Given the description of an element on the screen output the (x, y) to click on. 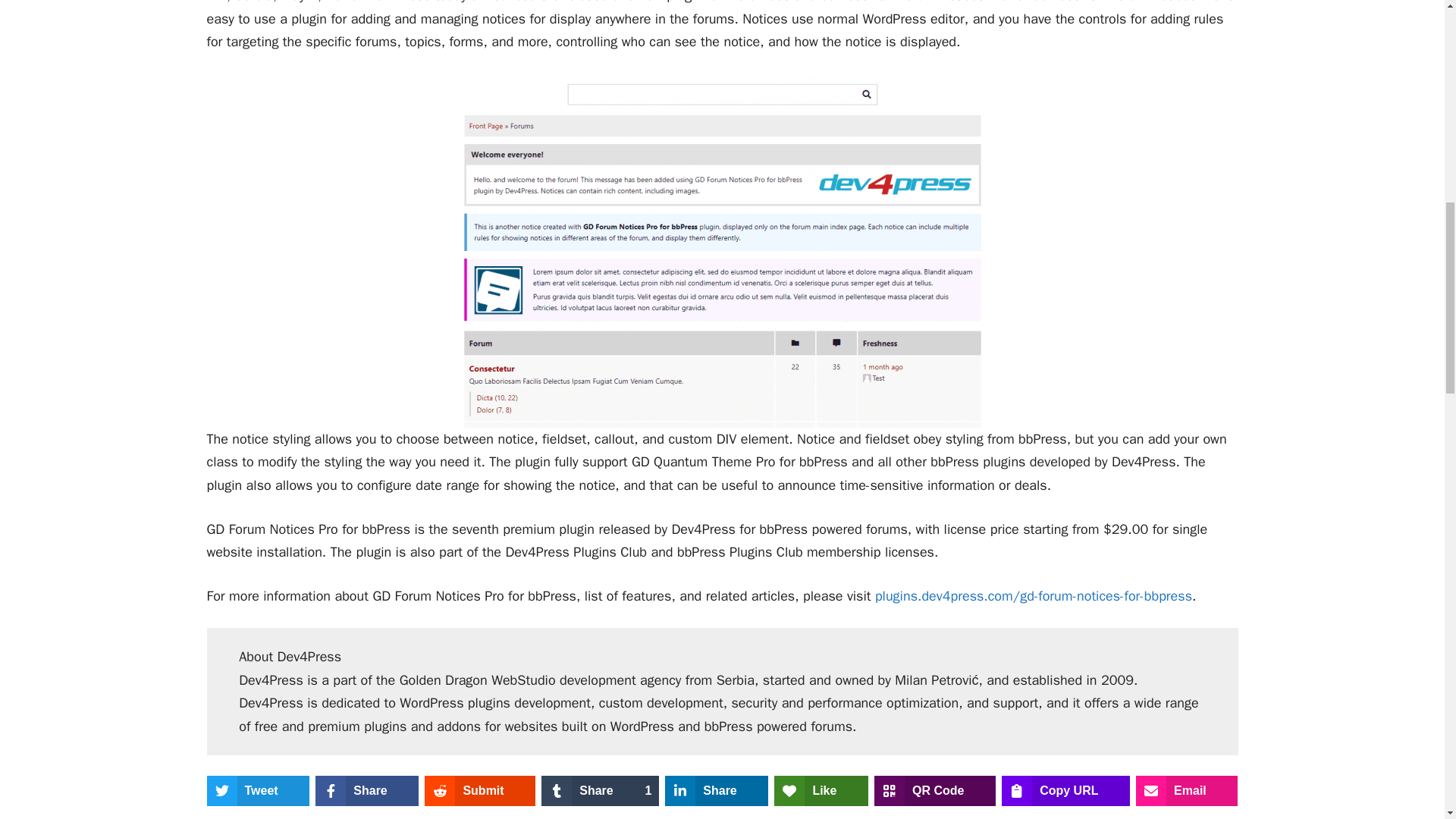
Reddit (480, 790)
Facebook (367, 790)
Twitter (257, 790)
